Given the description of an element on the screen output the (x, y) to click on. 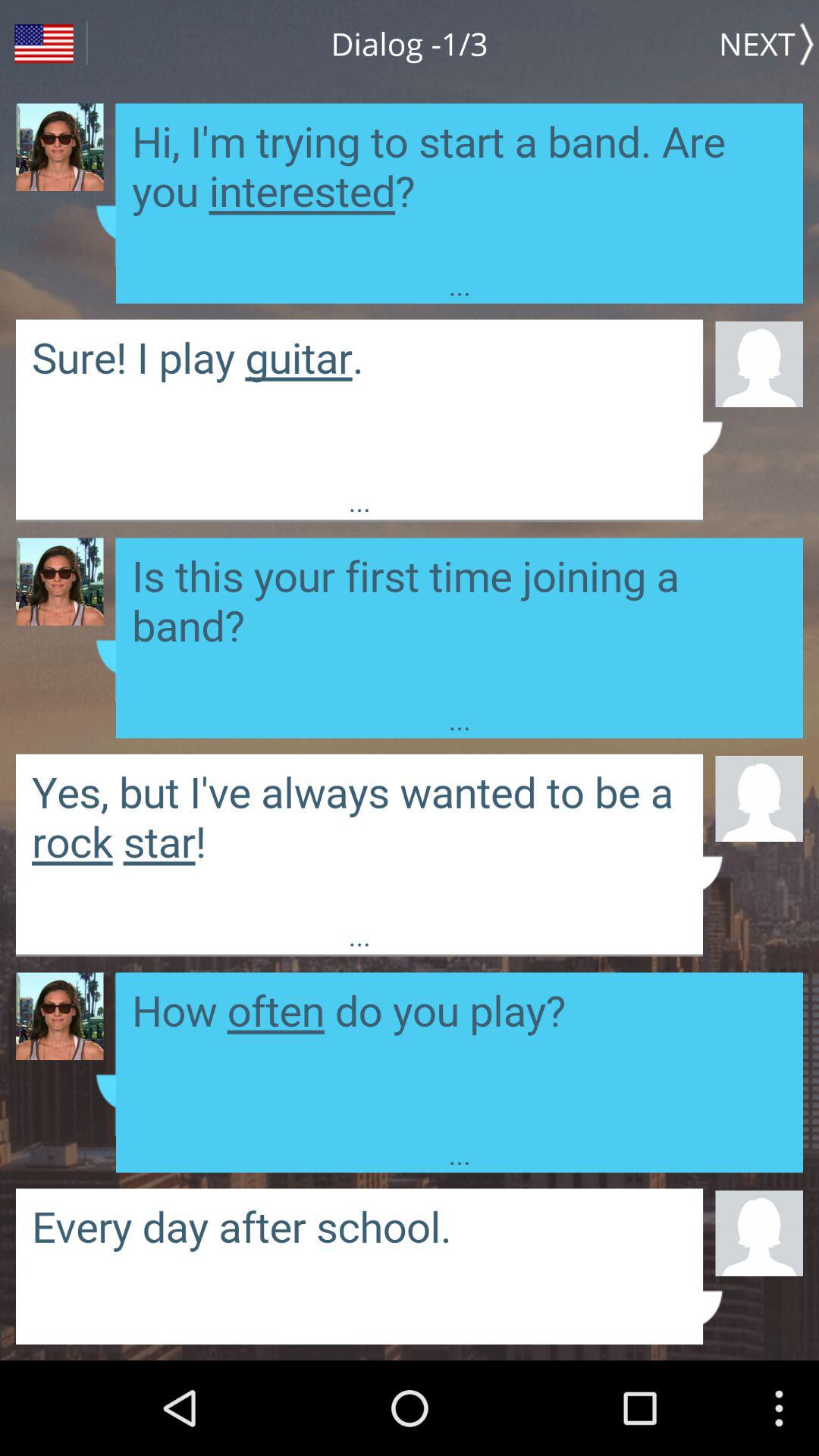
choose icon next to the dialog -1/3 (768, 43)
